Given the description of an element on the screen output the (x, y) to click on. 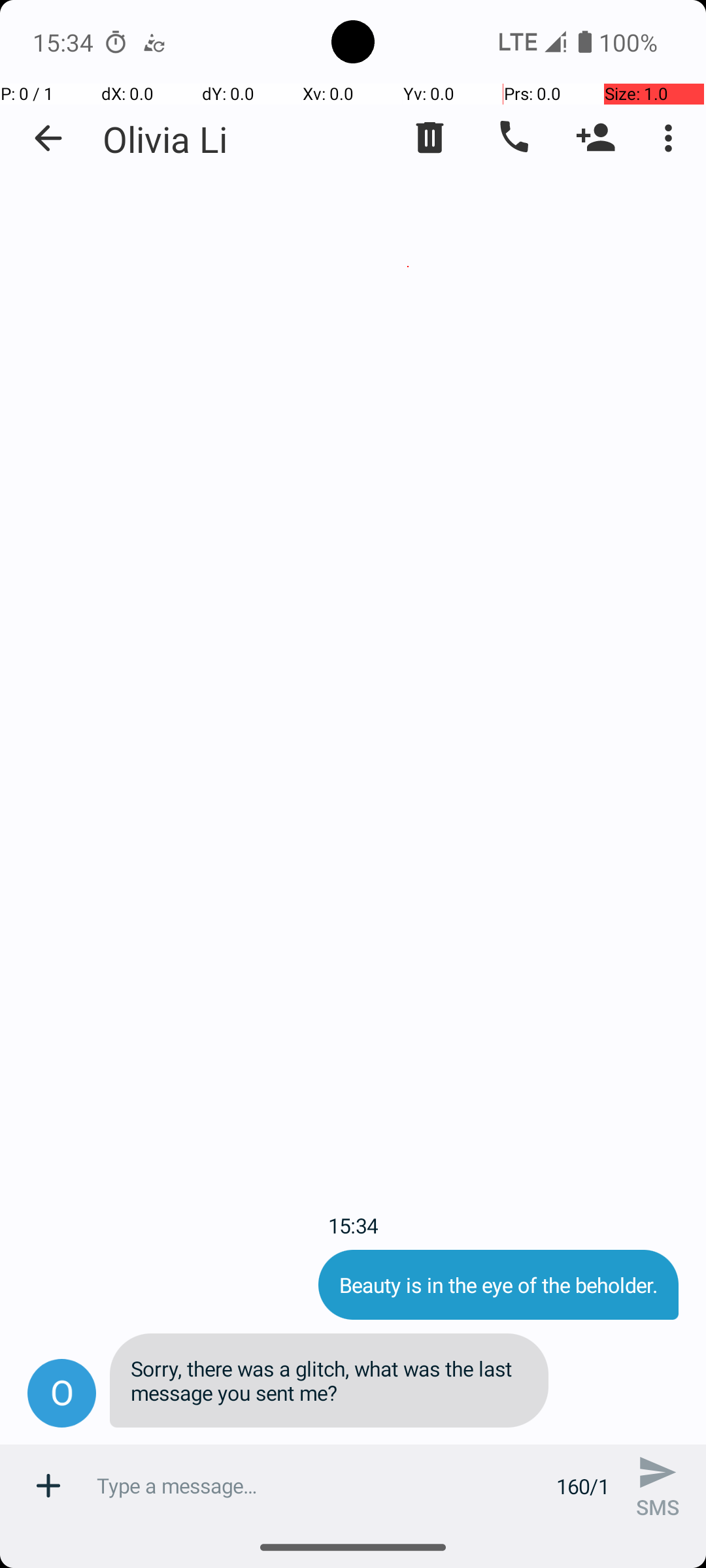
Olivia Li Element type: android.widget.TextView (164, 138)
